Given the description of an element on the screen output the (x, y) to click on. 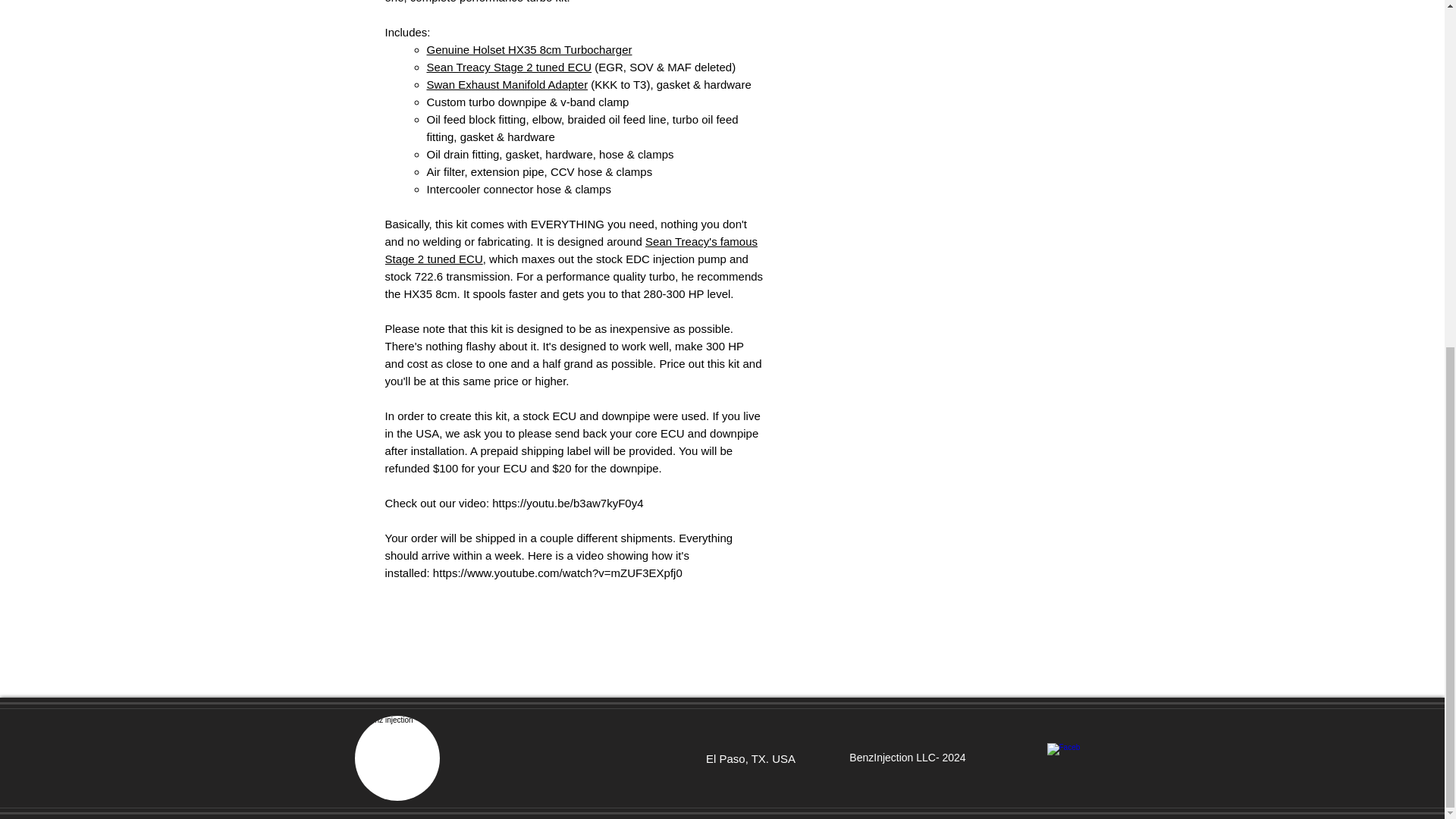
Sean Treacy's famous Stage 2 tuned ECU (571, 250)
Genuine Holset HX35 8cm Turbocharger (528, 49)
Sean Treacy Stage 2 tuned ECU (508, 66)
Swan Exhaust Manifold Adapter (507, 83)
